Given the description of an element on the screen output the (x, y) to click on. 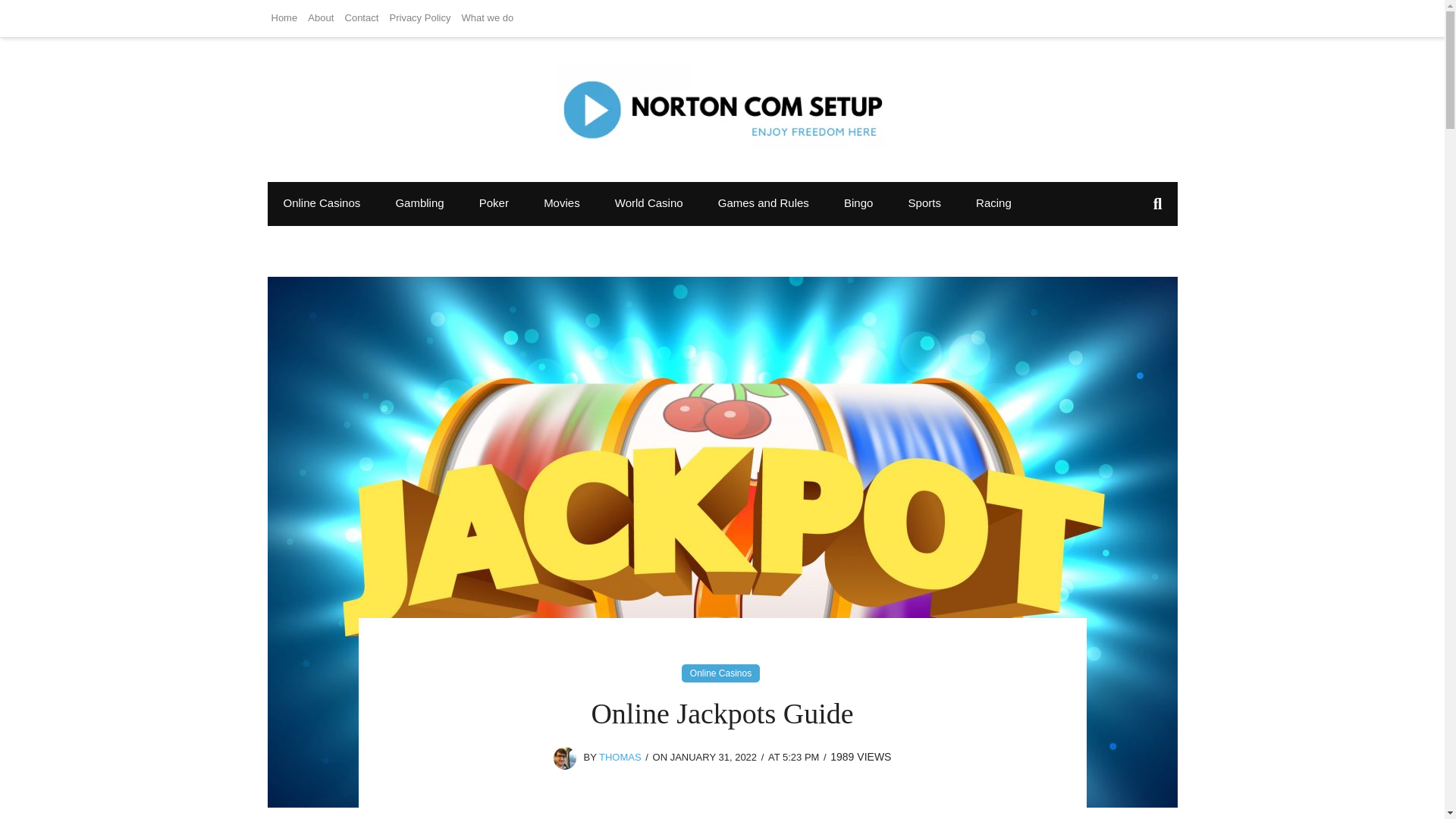
Contact (361, 17)
THOMAS (620, 756)
Privacy Policy (419, 17)
World Casino (648, 202)
Sports (924, 202)
Bingo (858, 202)
What we do (488, 17)
Search (28, 15)
Online Casinos (720, 673)
